Given the description of an element on the screen output the (x, y) to click on. 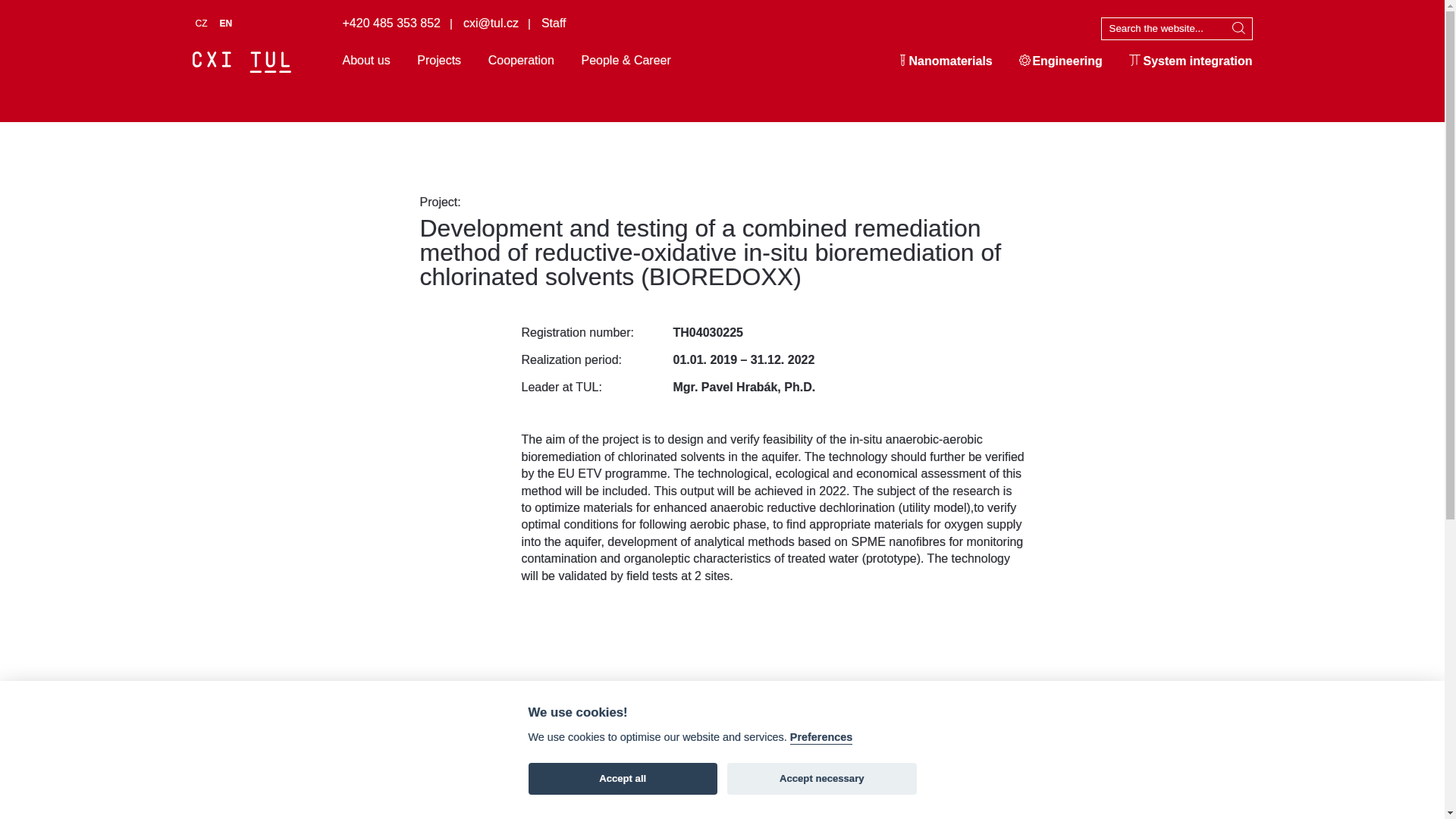
EN (231, 22)
EN (231, 22)
Staff (553, 22)
Projects (438, 61)
Cooperation (520, 61)
CZ (207, 22)
About us (366, 61)
CZ (207, 22)
